Given the description of an element on the screen output the (x, y) to click on. 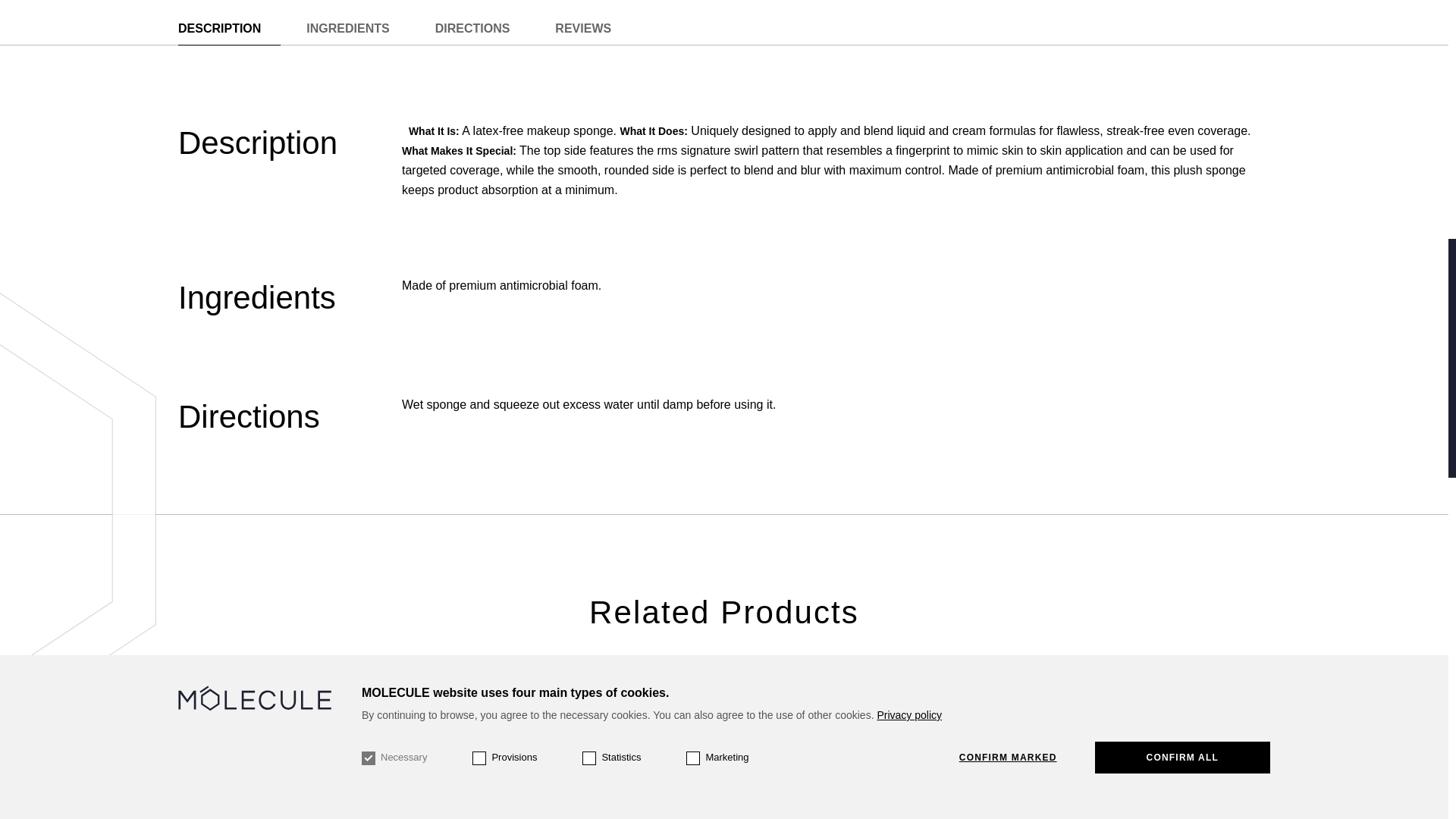
REVIEWS (582, 29)
